Given the description of an element on the screen output the (x, y) to click on. 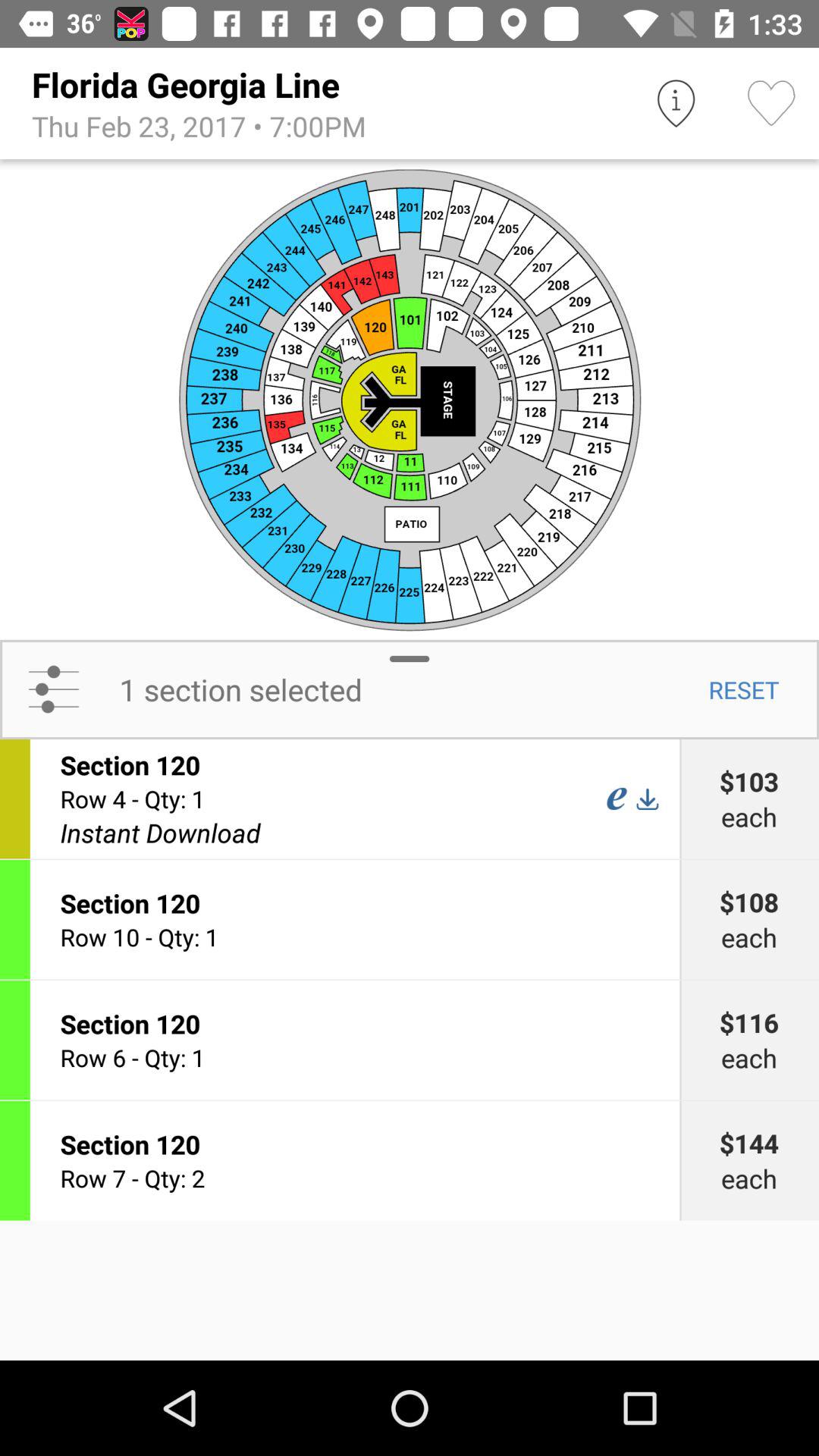
scroll until the reset icon (743, 689)
